Given the description of an element on the screen output the (x, y) to click on. 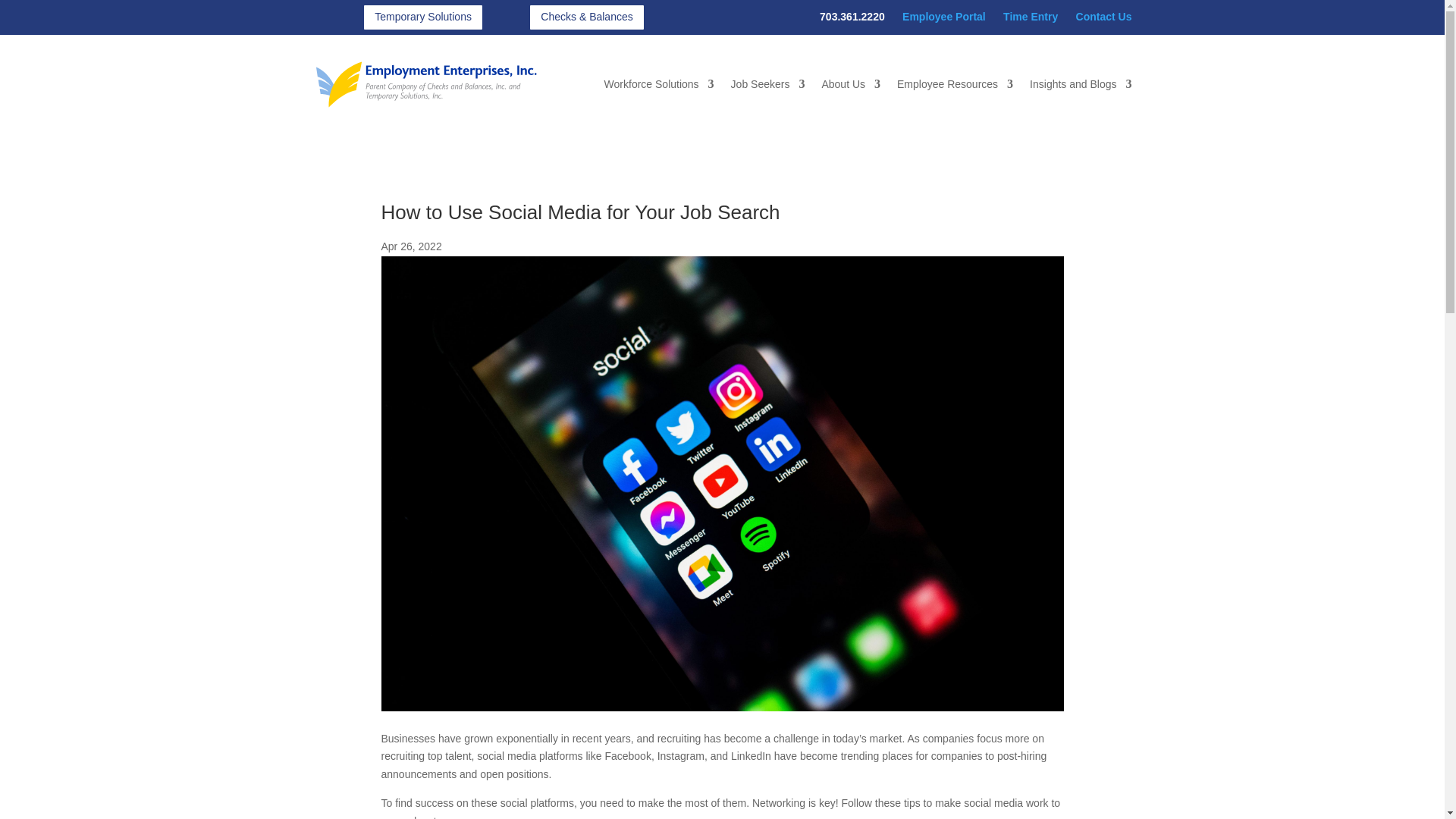
Workforce Solutions (659, 84)
Insights and Blogs (1080, 84)
Employee Portal (943, 16)
Time Entry (1030, 16)
Employee Resources (954, 84)
Job Seekers (767, 84)
Contact Us (1103, 16)
Temporary Solutions (422, 17)
About Us (850, 84)
